Given the description of an element on the screen output the (x, y) to click on. 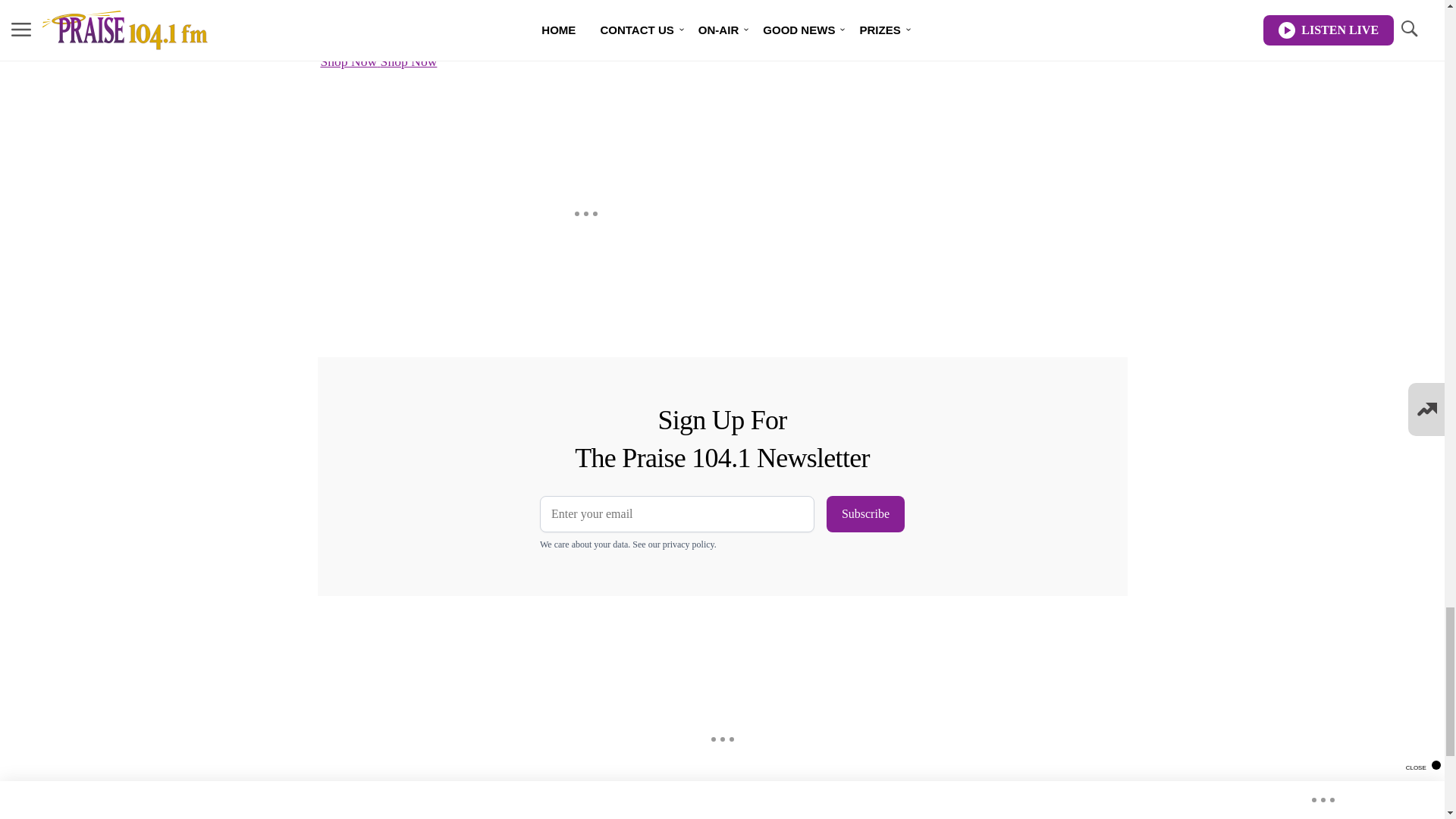
Shop Now (350, 61)
Shop Now (409, 61)
